Given the description of an element on the screen output the (x, y) to click on. 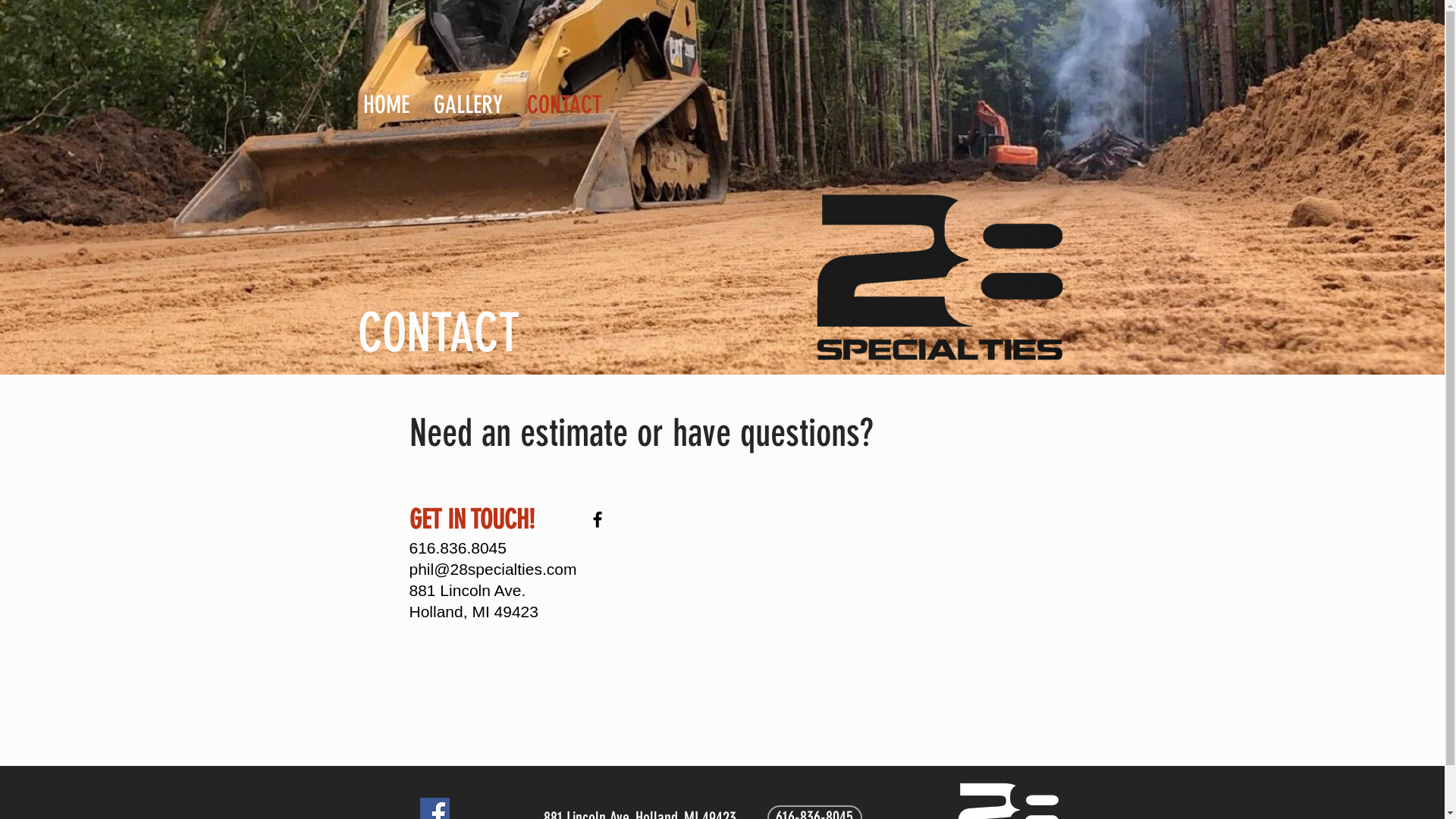
HOME Element type: text (386, 101)
CONTACT Element type: text (565, 101)
GALLERY Element type: text (467, 101)
phil@28specialties.com Element type: text (493, 568)
Google Maps Element type: hover (851, 577)
